Given the description of an element on the screen output the (x, y) to click on. 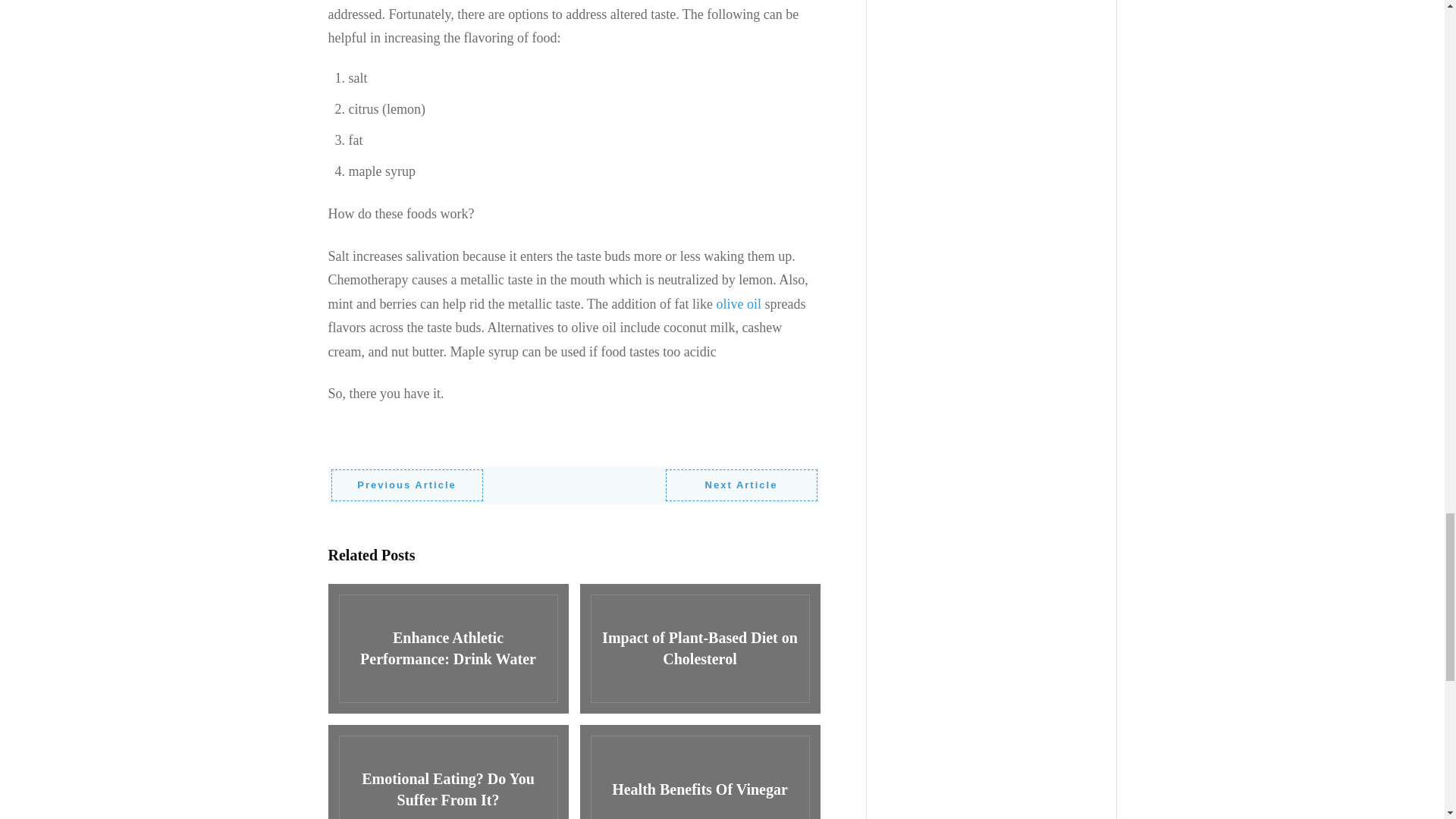
olive oil (740, 304)
Health Benefits Of Vinegar (699, 771)
Enhance Athletic Performance: Drink Water (447, 648)
Impact of Plant-Based Diet on Cholesterol (699, 648)
Next Article (740, 485)
Previous Article (405, 485)
Emotional Eating? Do You Suffer From It? (447, 771)
